Given the description of an element on the screen output the (x, y) to click on. 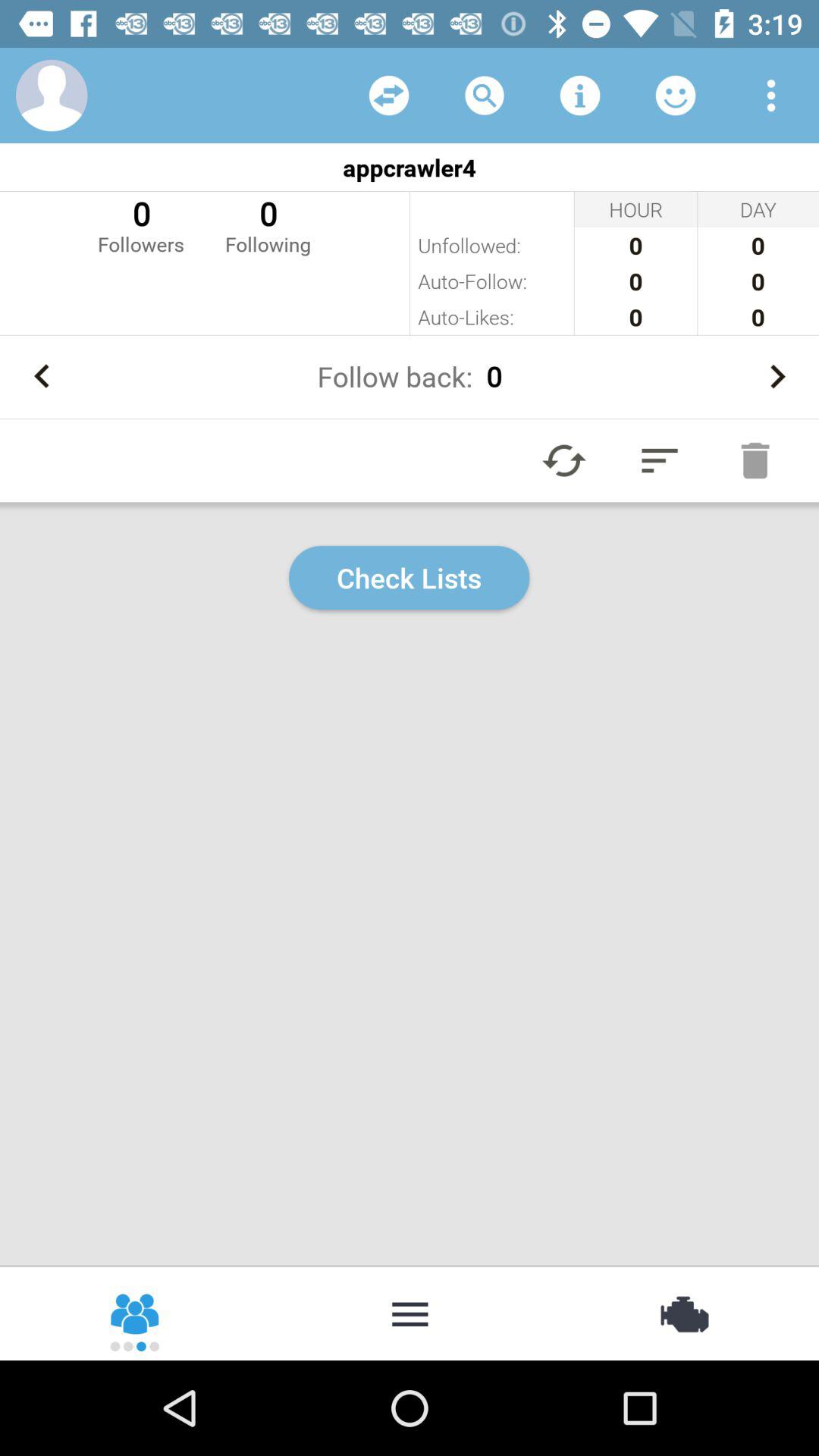
go to next screen (777, 376)
